Given the description of an element on the screen output the (x, y) to click on. 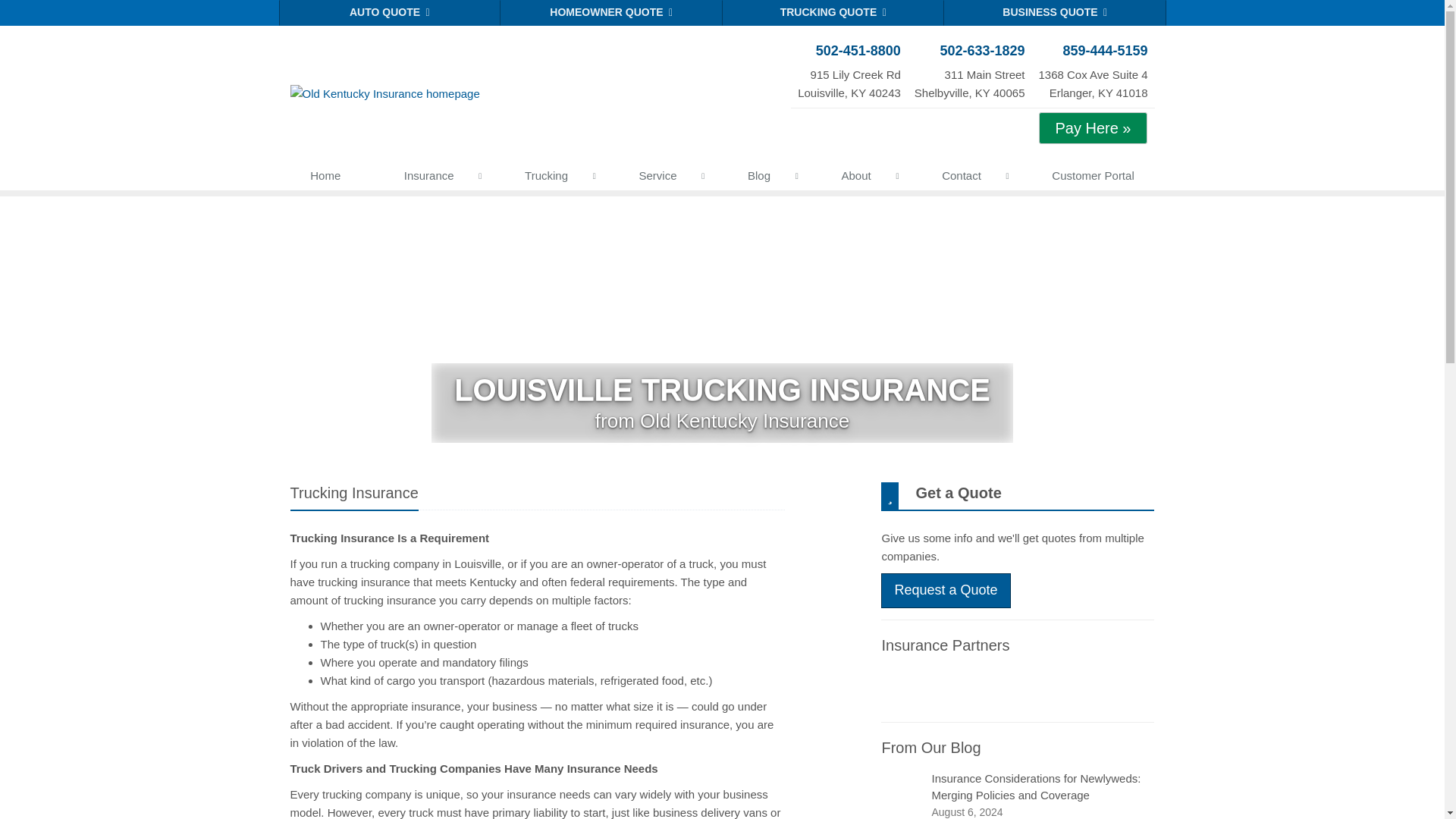
502-633-1829 (969, 50)
859-444-5159 (1092, 50)
About (860, 178)
Home (325, 178)
Insurance Partners (944, 645)
Customer Portal (1092, 72)
Insurance (1093, 178)
BUSINESS QUOTE (432, 178)
TRUCKING QUOTE (1054, 12)
